Given the description of an element on the screen output the (x, y) to click on. 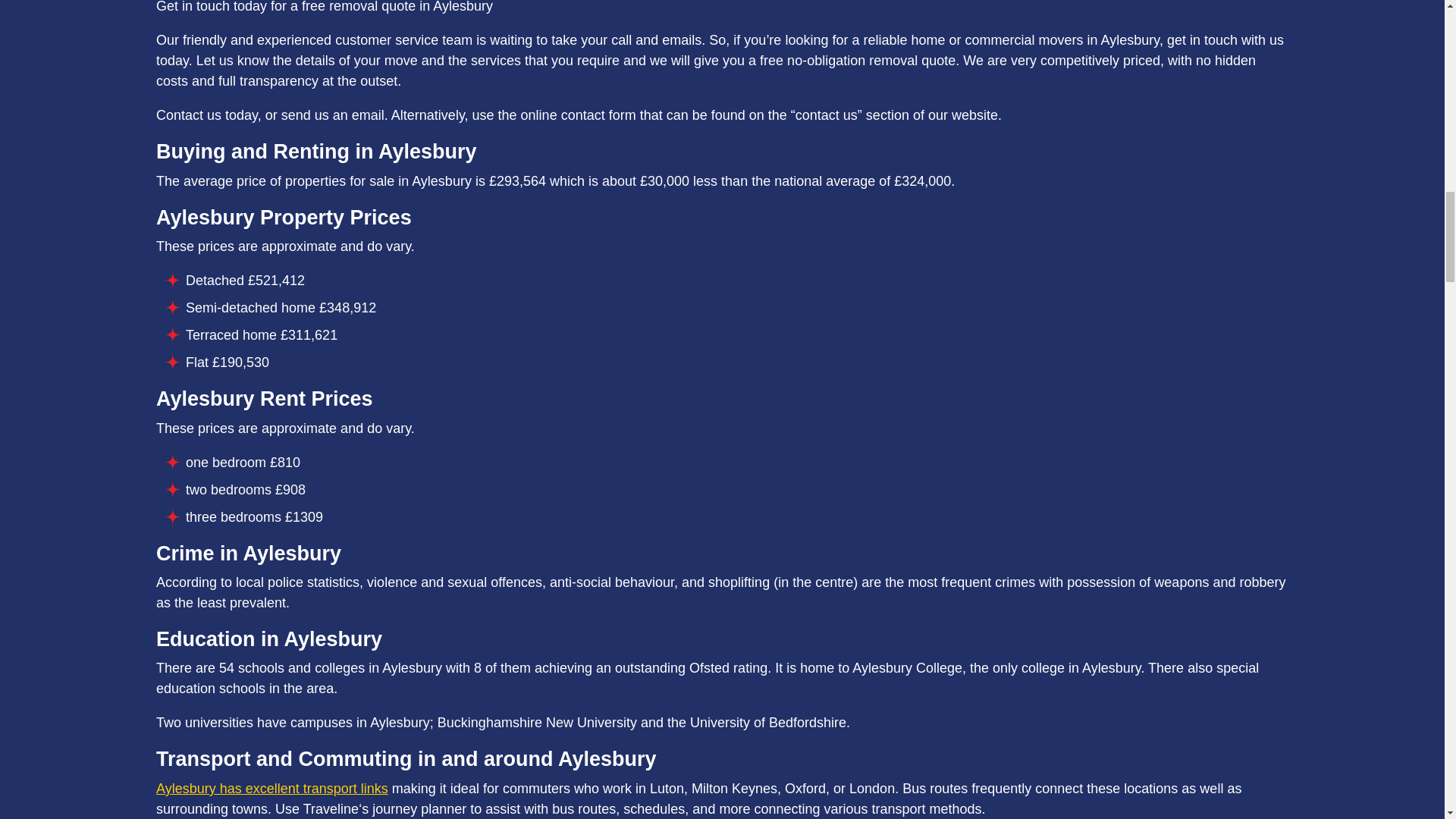
Aylesbury has excellent transport links (271, 788)
